Given the description of an element on the screen output the (x, y) to click on. 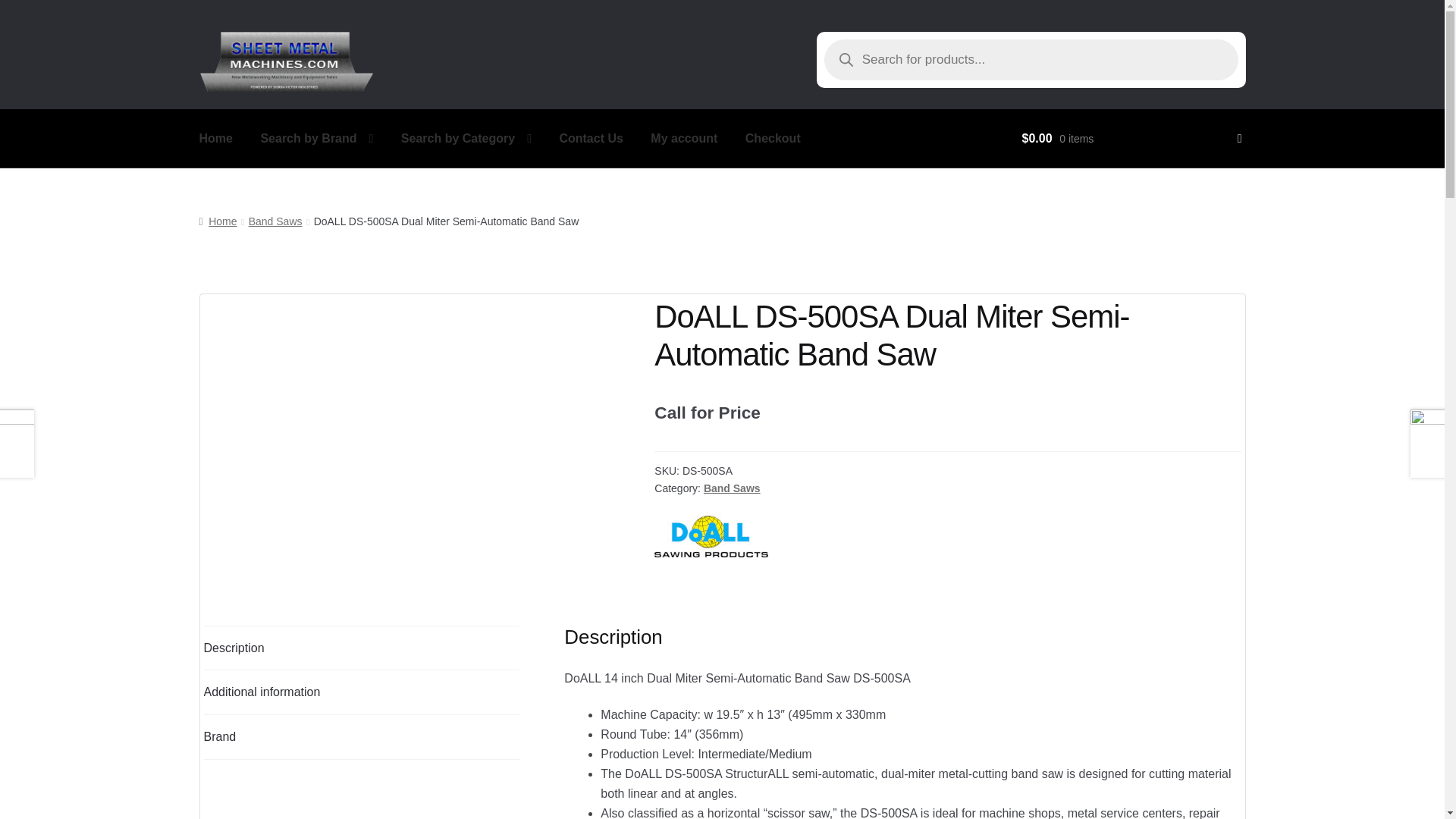
Search by Brand (316, 138)
DoAll (710, 536)
Search by Category (465, 138)
Search by Brand (316, 138)
View your shopping cart (1131, 138)
Home (215, 138)
